Given the description of an element on the screen output the (x, y) to click on. 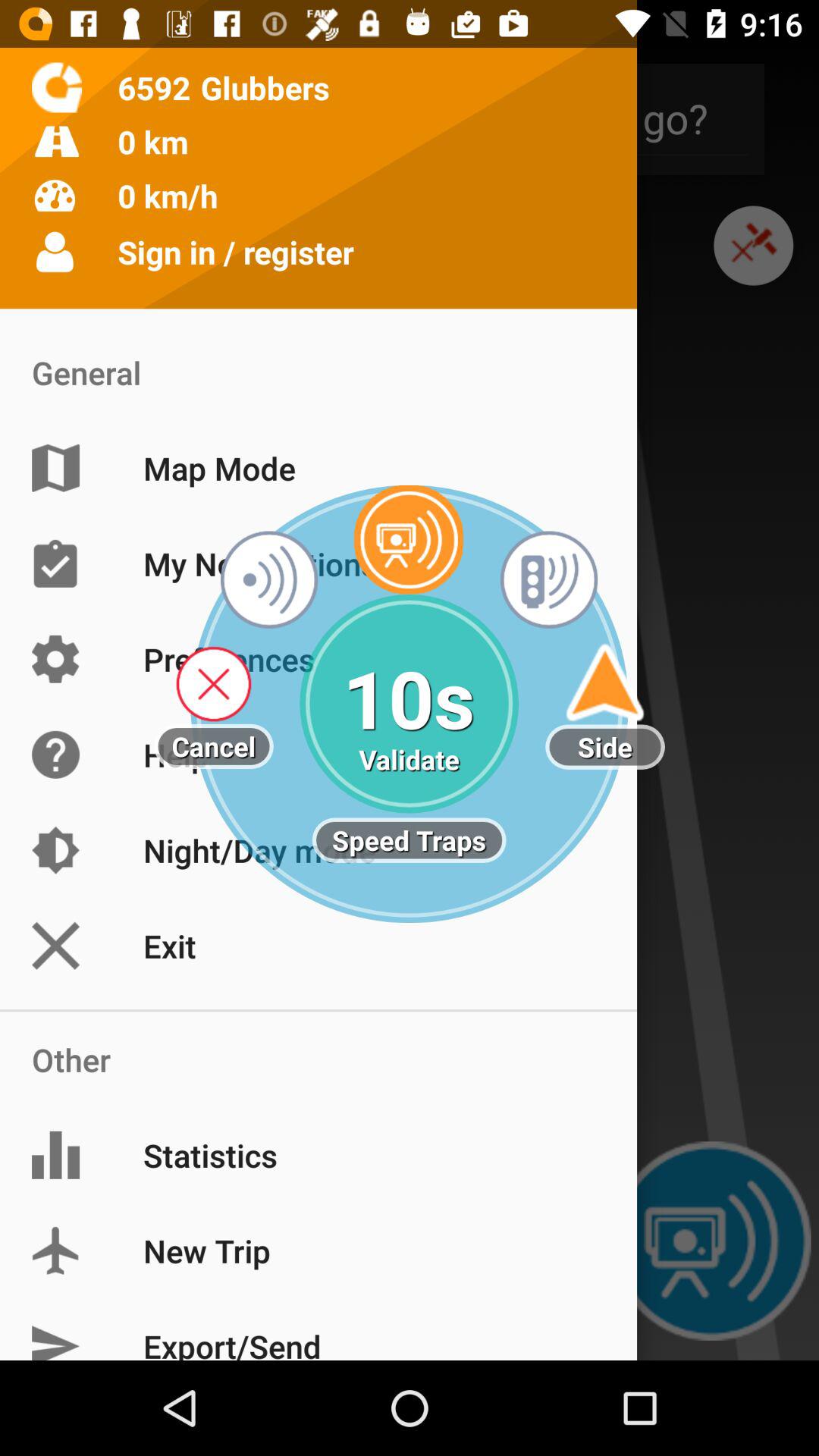
click on road icon (56, 141)
